Given the description of an element on the screen output the (x, y) to click on. 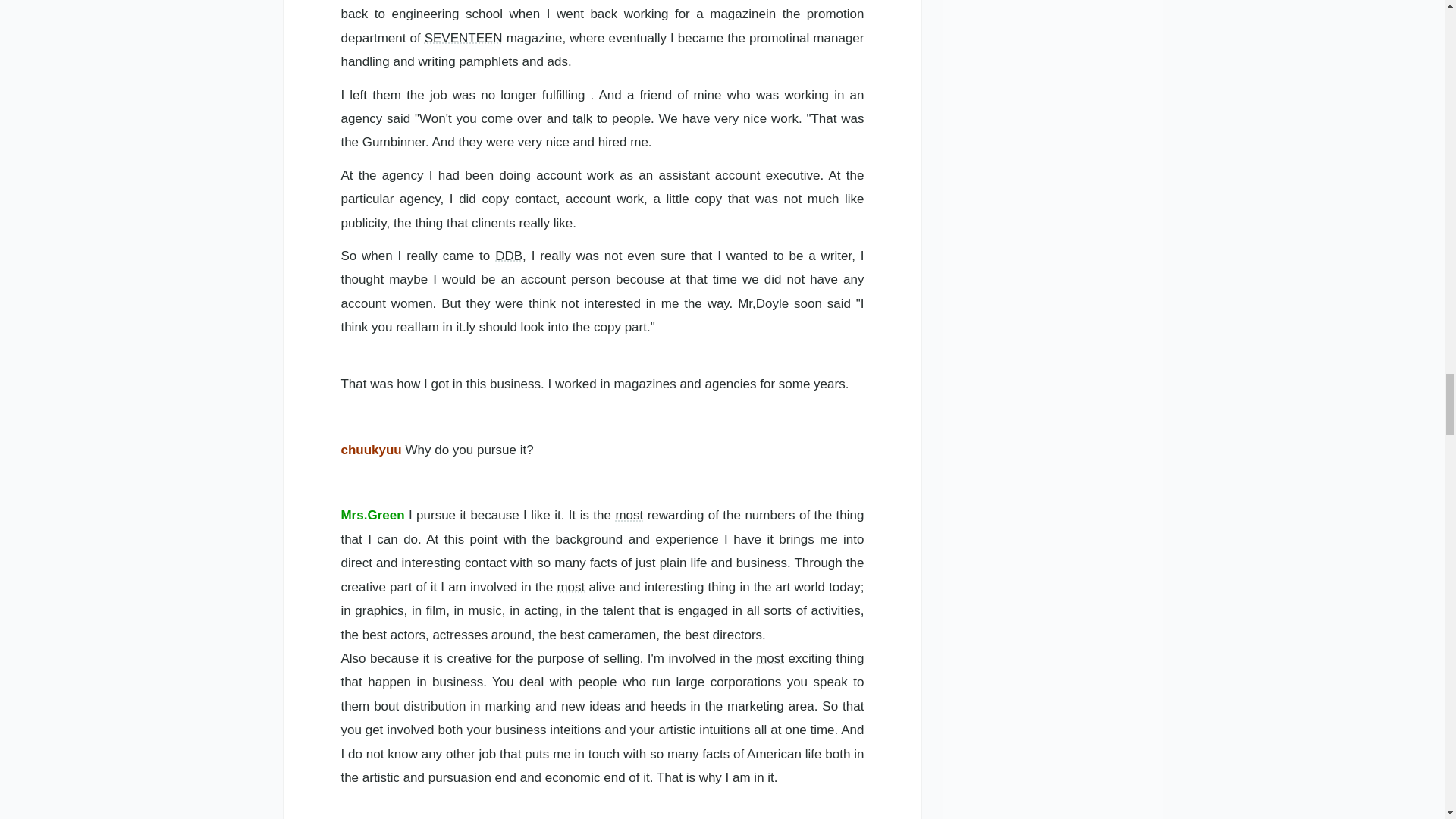
most (769, 658)
SEVENTEEN (463, 38)
talk (582, 118)
most (570, 586)
most (628, 514)
DDB (508, 255)
